Given the description of an element on the screen output the (x, y) to click on. 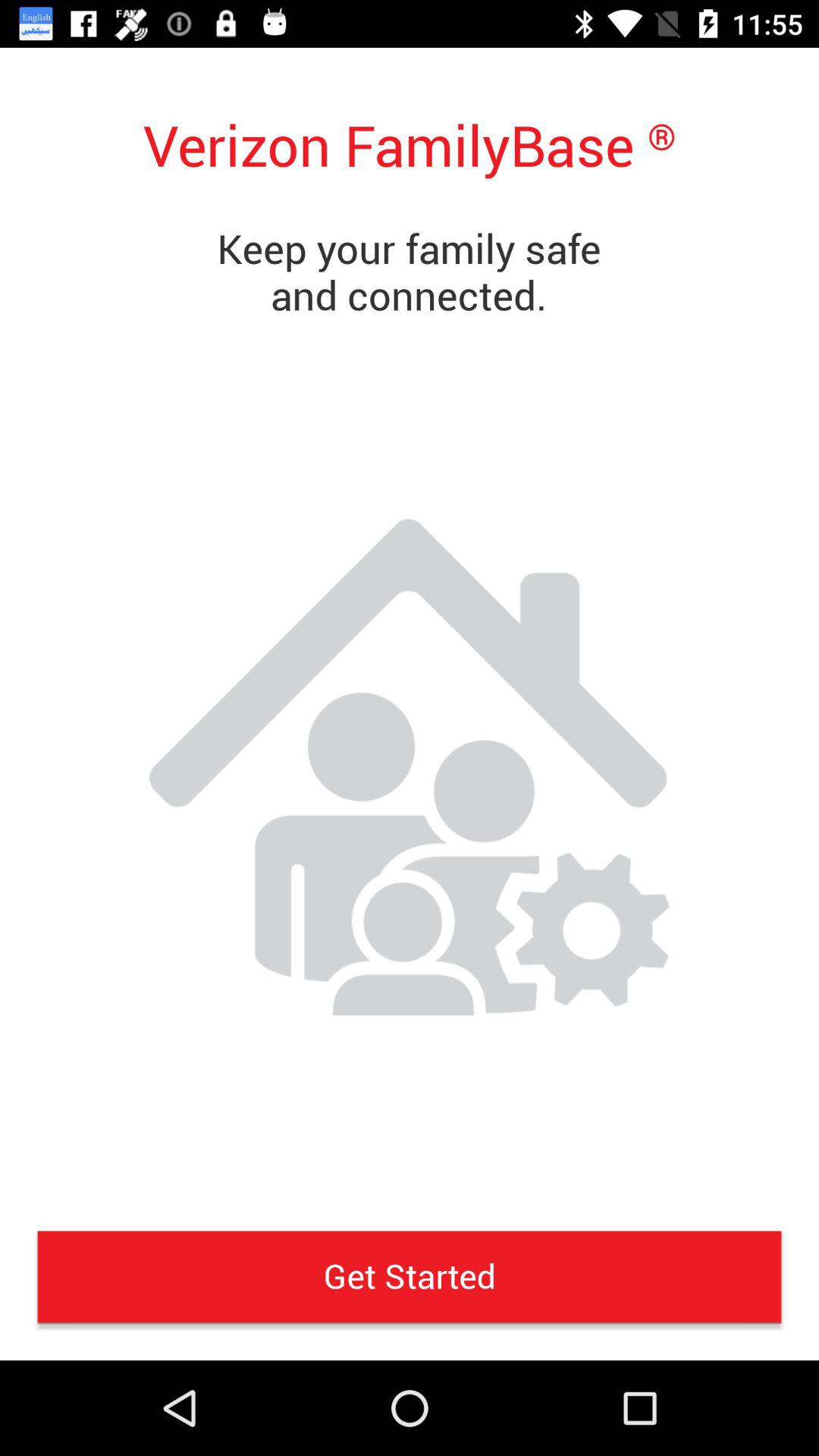
swipe until get started item (409, 1276)
